Given the description of an element on the screen output the (x, y) to click on. 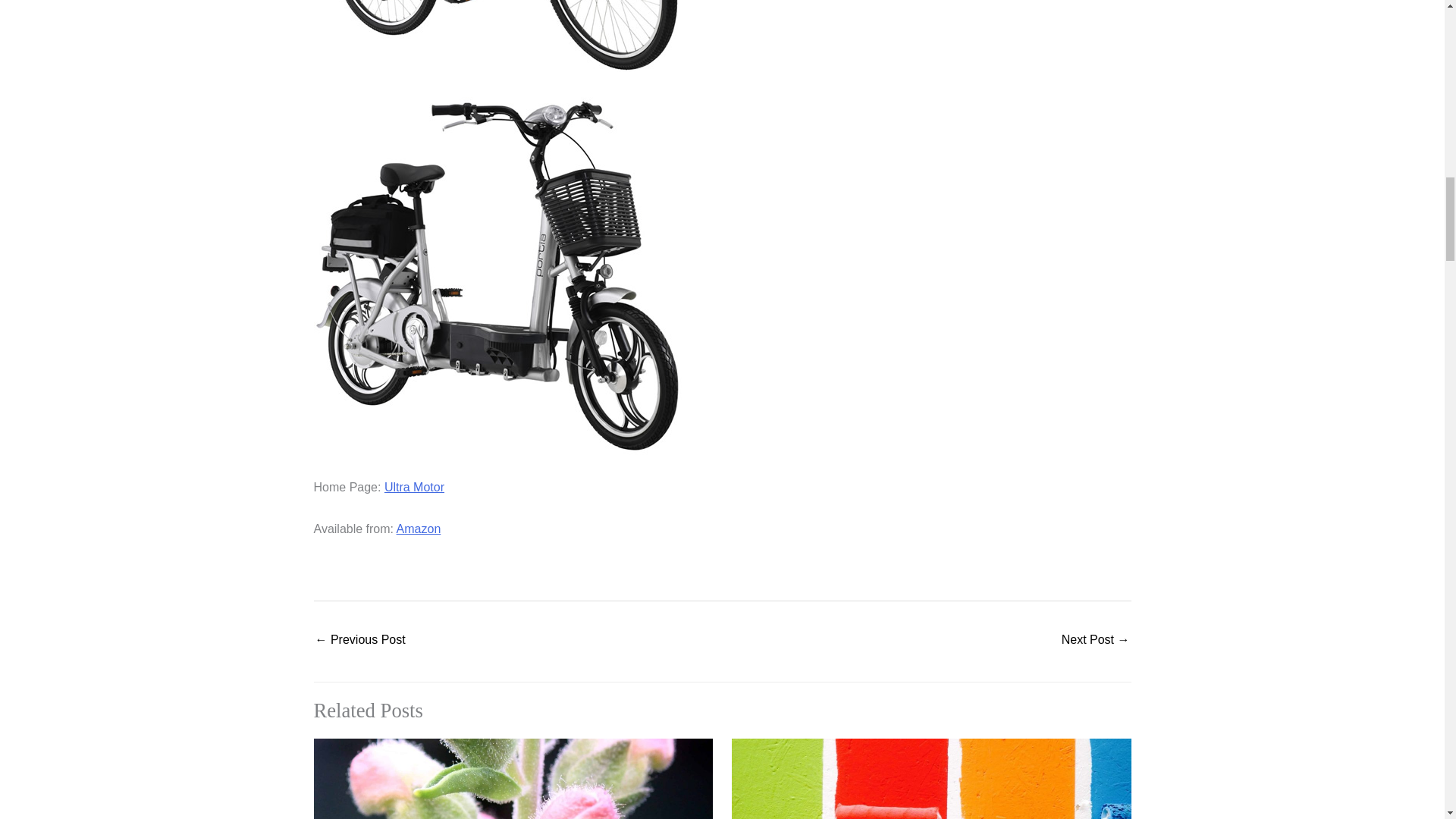
Vancouver: All New Developments Must Be Green (1095, 641)
Ultra Motor (414, 486)
Solar Powered Air Conditioner Released (360, 641)
Ultra Motor Electric Europa Bike (497, 36)
Amazon (418, 528)
Ultra Motor Portia Ebike (497, 273)
